Given the description of an element on the screen output the (x, y) to click on. 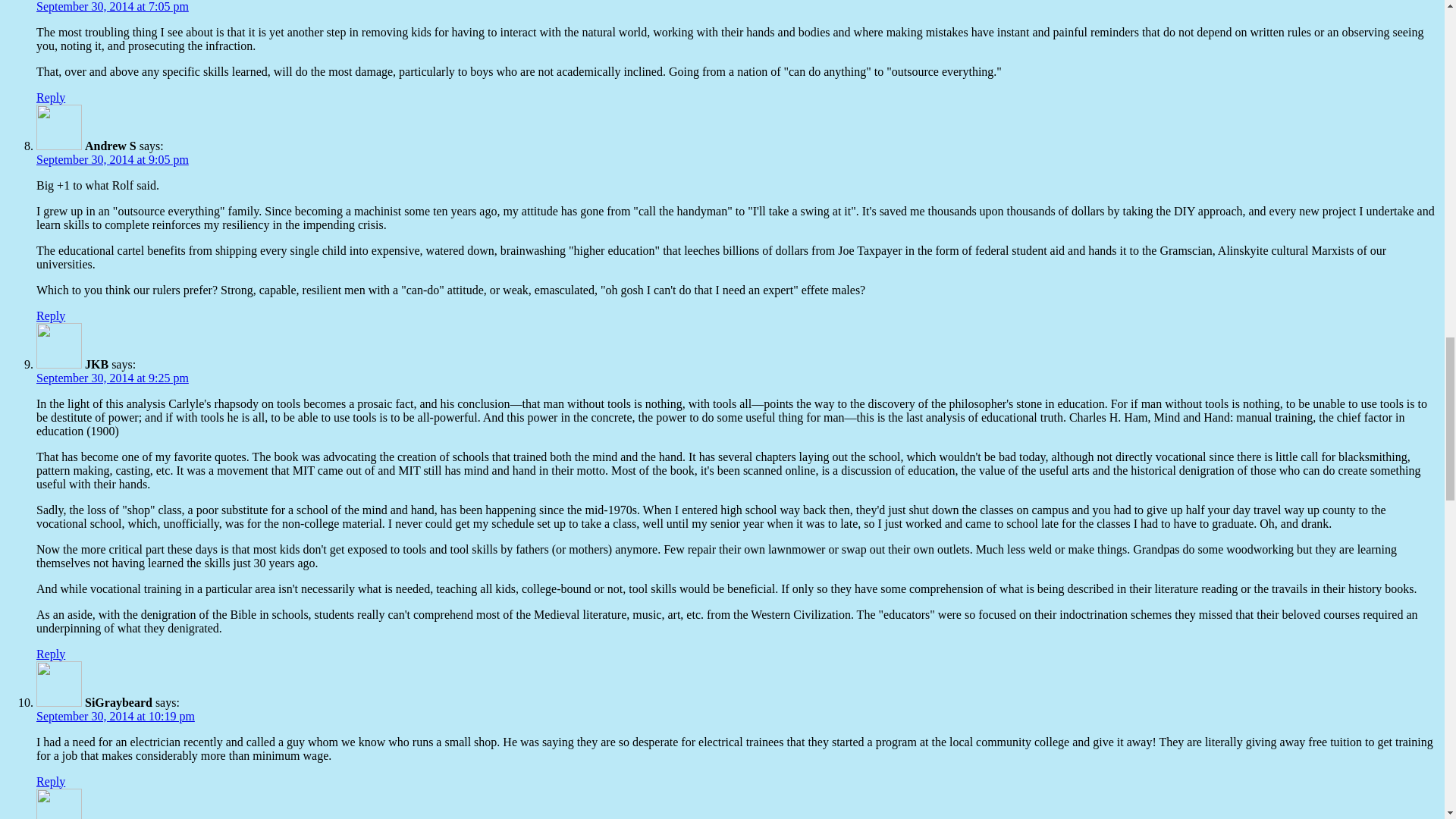
September 30, 2014 at 7:05 pm (112, 6)
September 30, 2014 at 10:19 pm (115, 716)
Reply (50, 780)
September 30, 2014 at 9:05 pm (112, 159)
Reply (50, 653)
September 30, 2014 at 9:25 pm (112, 377)
Reply (50, 97)
Reply (50, 315)
